Given the description of an element on the screen output the (x, y) to click on. 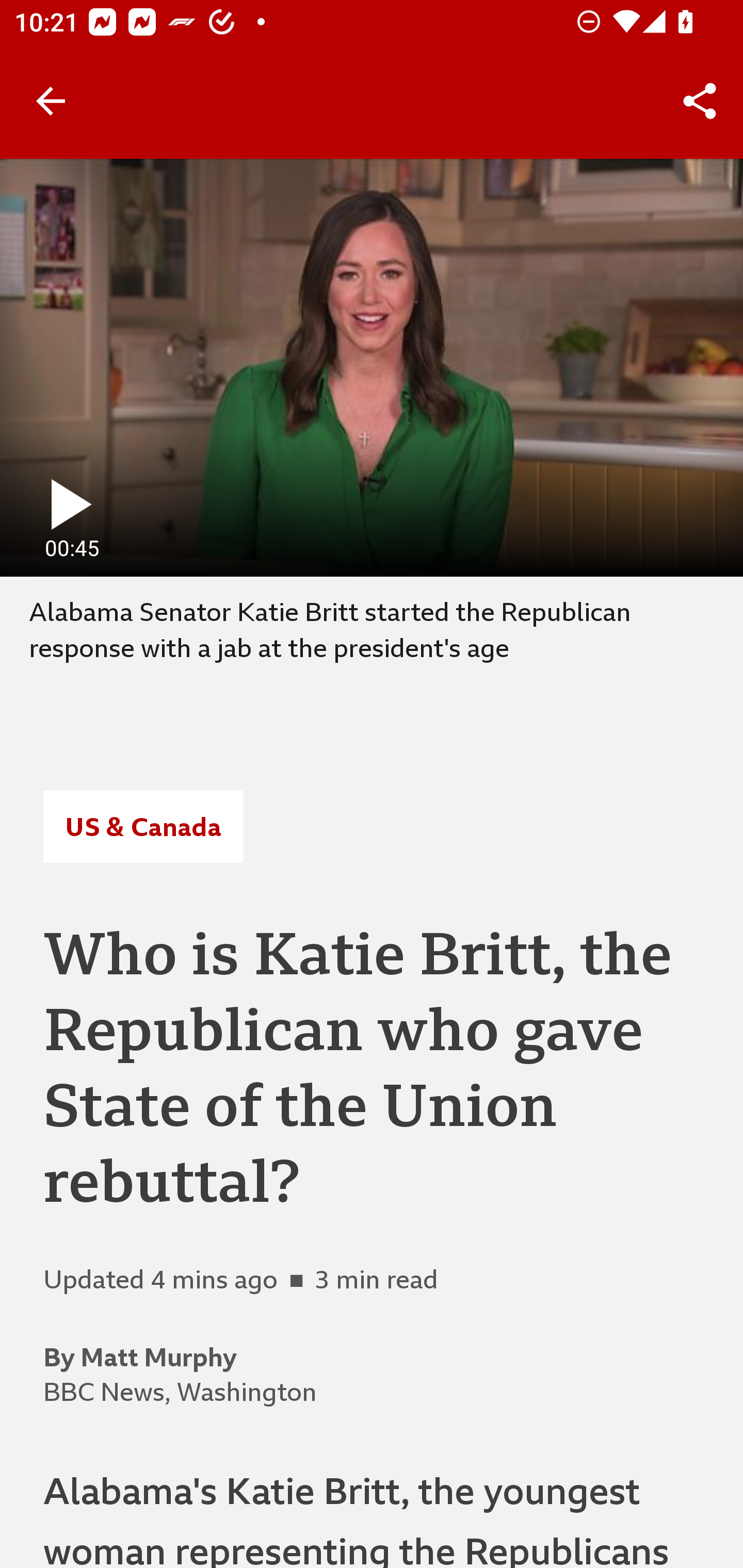
Back (50, 101)
Share (699, 101)
play fullscreen 00:45 0 minutes, 45 seconds (371, 367)
US & Canada (142, 827)
